Given the description of an element on the screen output the (x, y) to click on. 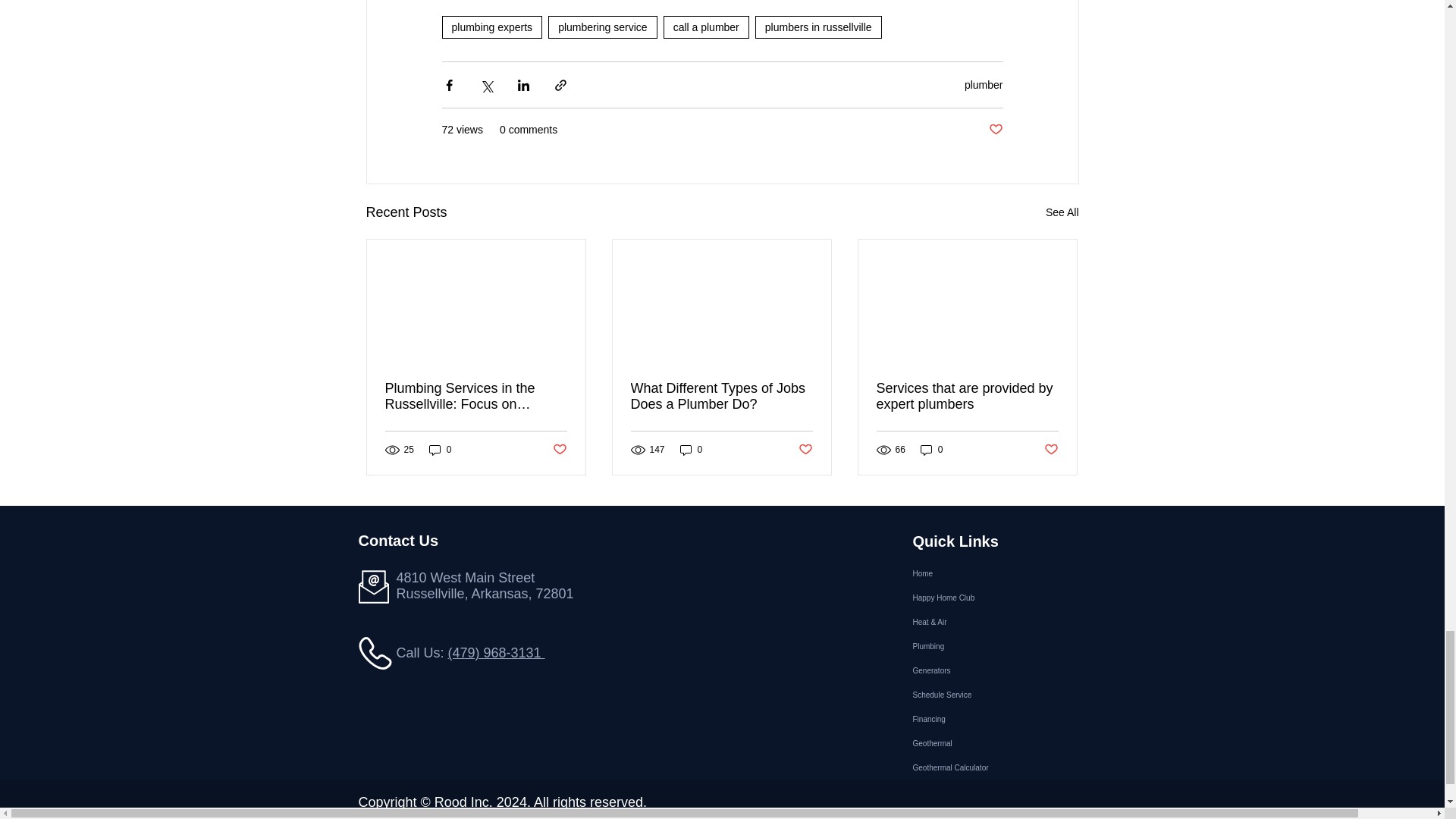
Post not marked as liked (995, 130)
Post not marked as liked (558, 449)
plumbers in russellville (818, 26)
plumbering service (603, 26)
plumber (983, 84)
plumbing experts (491, 26)
0 (440, 450)
0 (691, 450)
What Different Types of Jobs Does a Plumber Do? (721, 396)
call a plumber (706, 26)
See All (1061, 212)
